Given the description of an element on the screen output the (x, y) to click on. 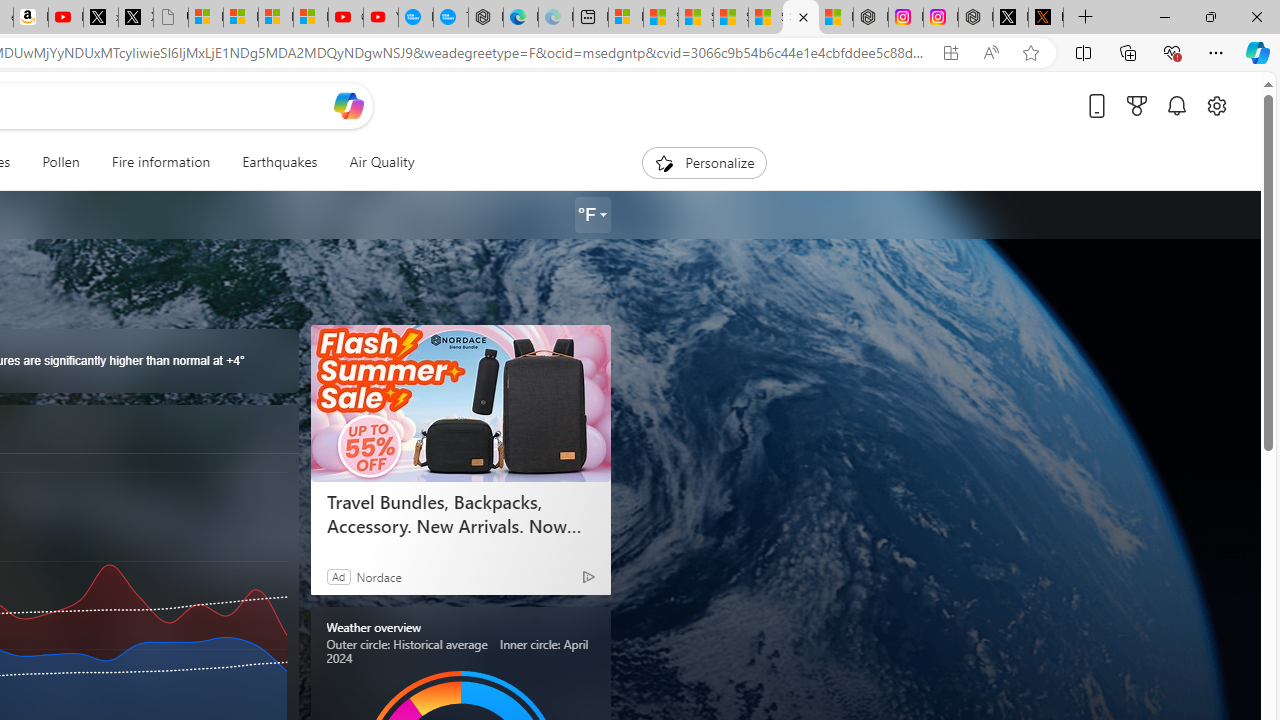
Earthquakes (280, 162)
Shanghai, China Weather trends | Microsoft Weather (800, 17)
Nordace (@NordaceOfficial) / X (1010, 17)
To get missing image descriptions, open the context menu. (664, 162)
Air Quality (373, 162)
